Given the description of an element on the screen output the (x, y) to click on. 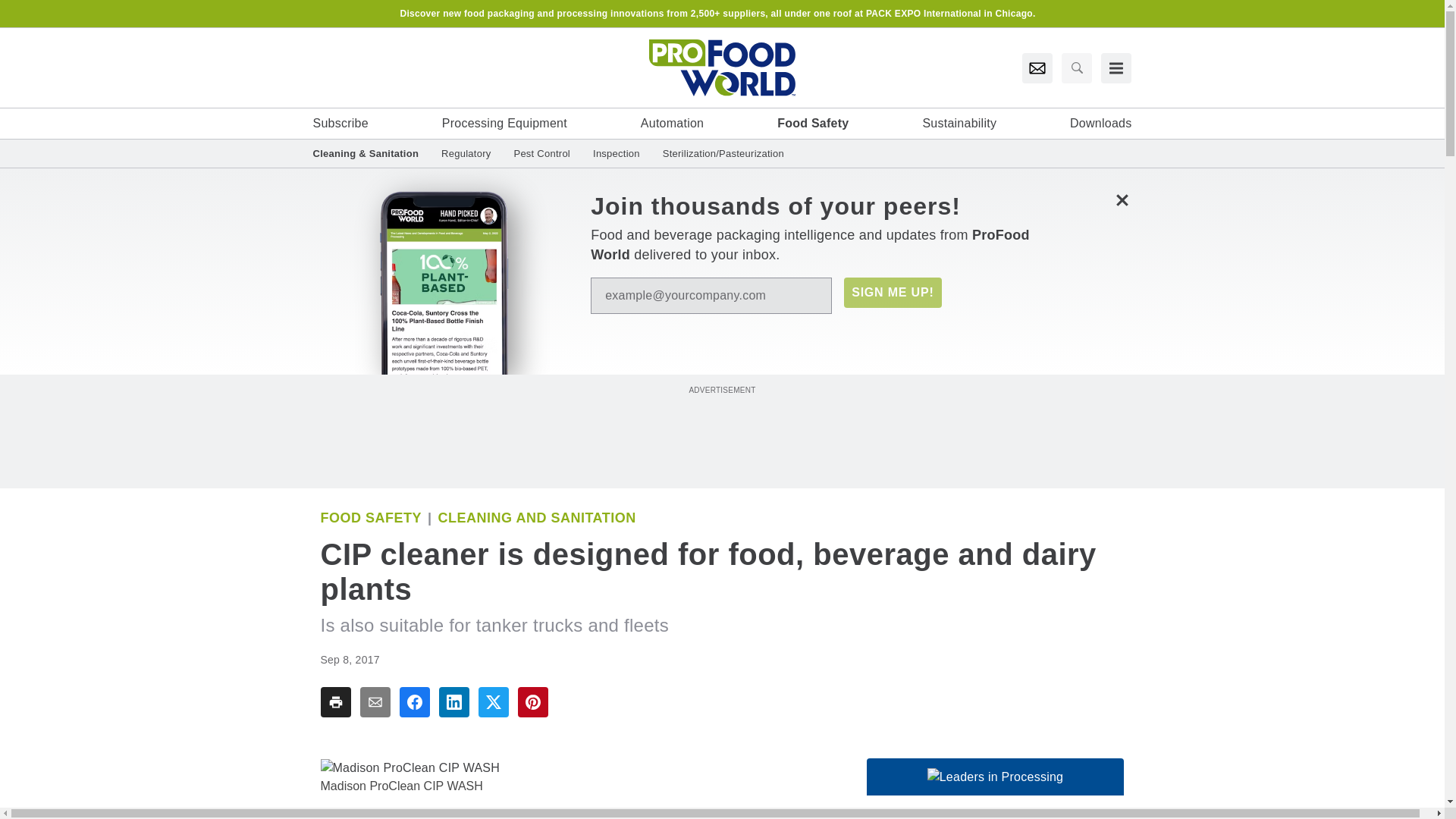
Subscribe (340, 123)
Sustainability (958, 123)
Inspection (615, 153)
Share To linkedin (453, 702)
Food Safety (371, 517)
Share To email (374, 702)
Food Safety (812, 123)
Processing Equipment (504, 123)
Pest Control (541, 153)
Share To pinterest (531, 702)
